Given the description of an element on the screen output the (x, y) to click on. 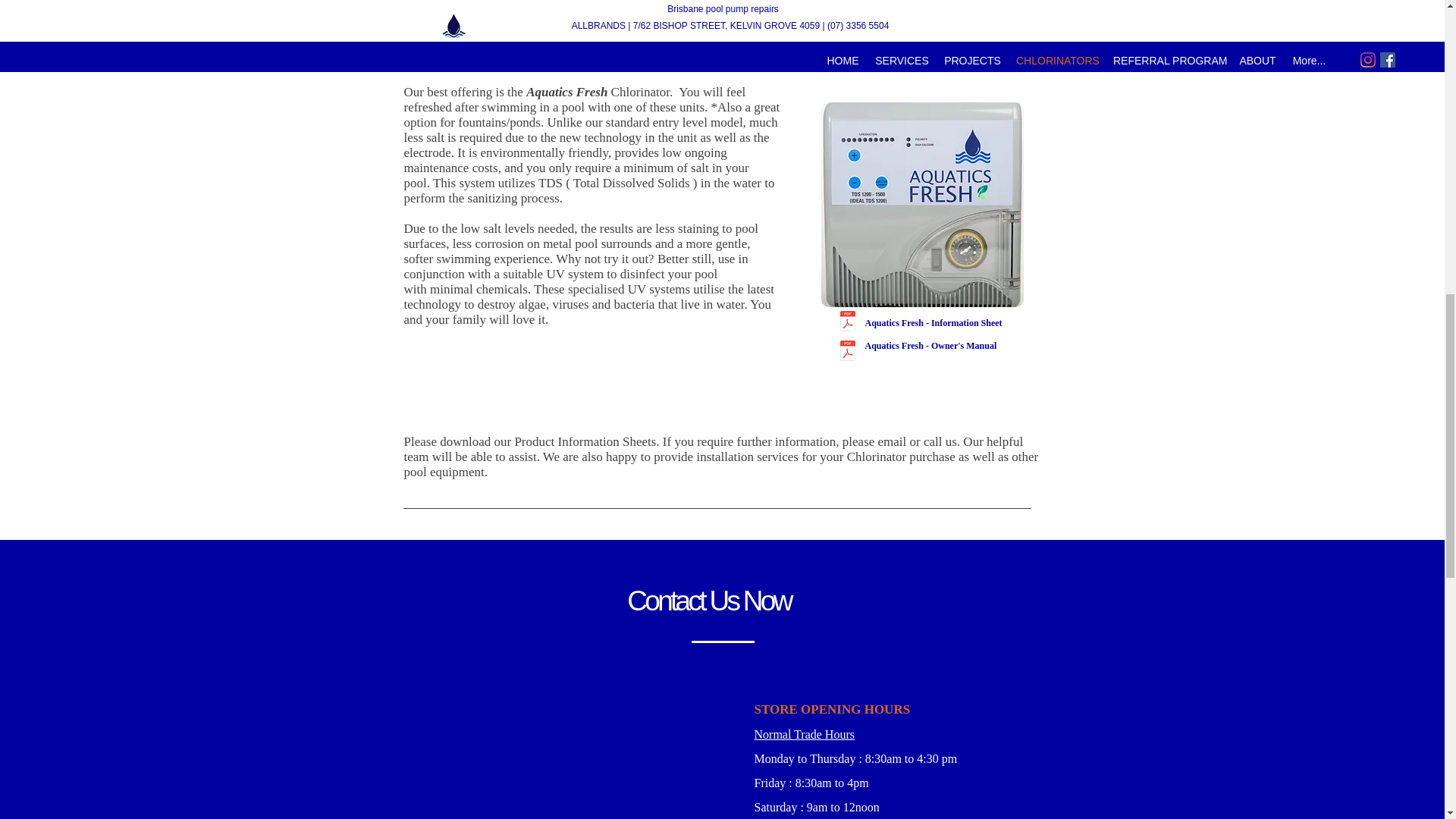
Magnesium.pdf (407, 2)
Google Maps (588, 757)
